Given the description of an element on the screen output the (x, y) to click on. 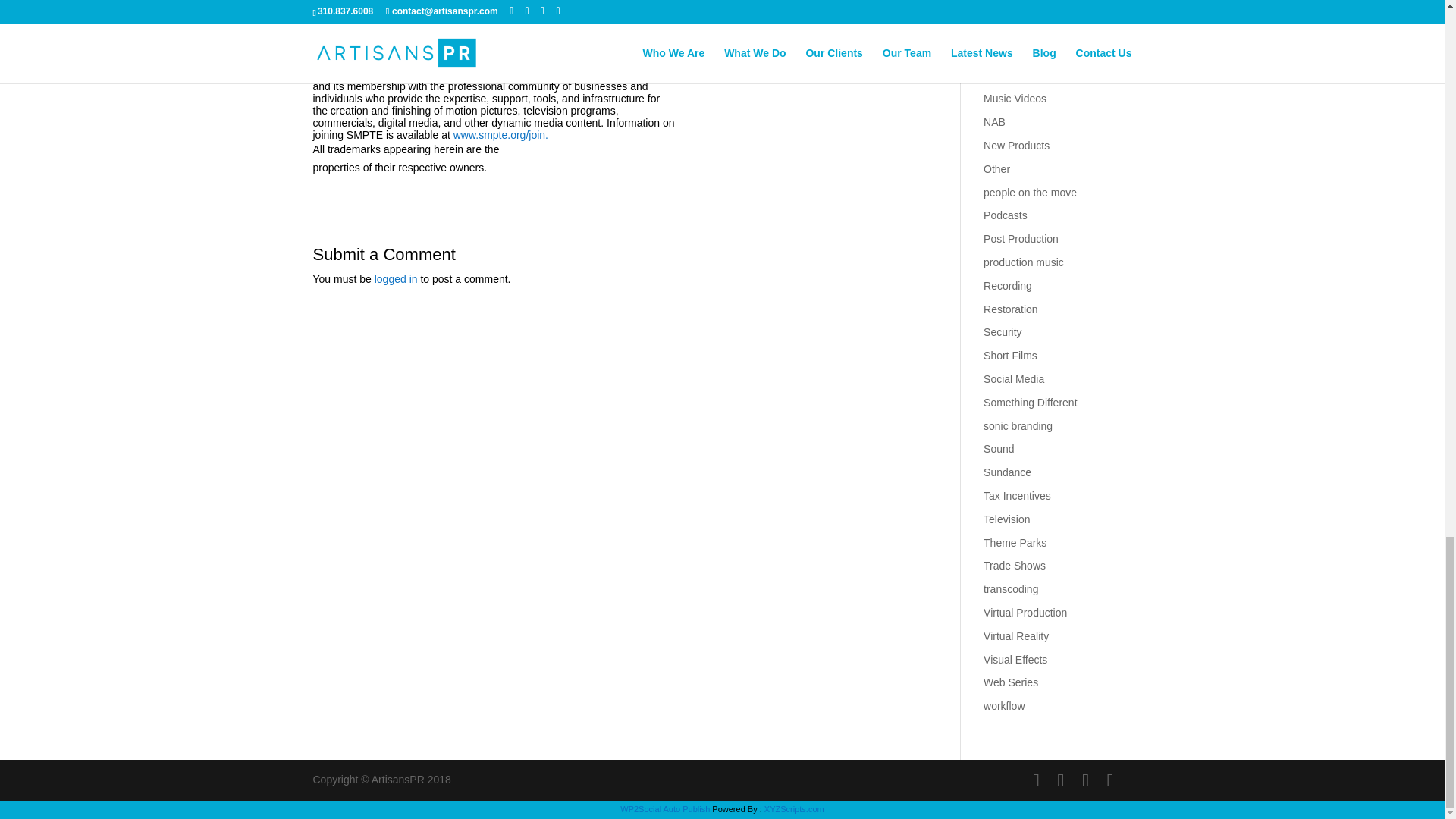
WP2Social Auto Publish (665, 809)
logged in (395, 278)
